Given the description of an element on the screen output the (x, y) to click on. 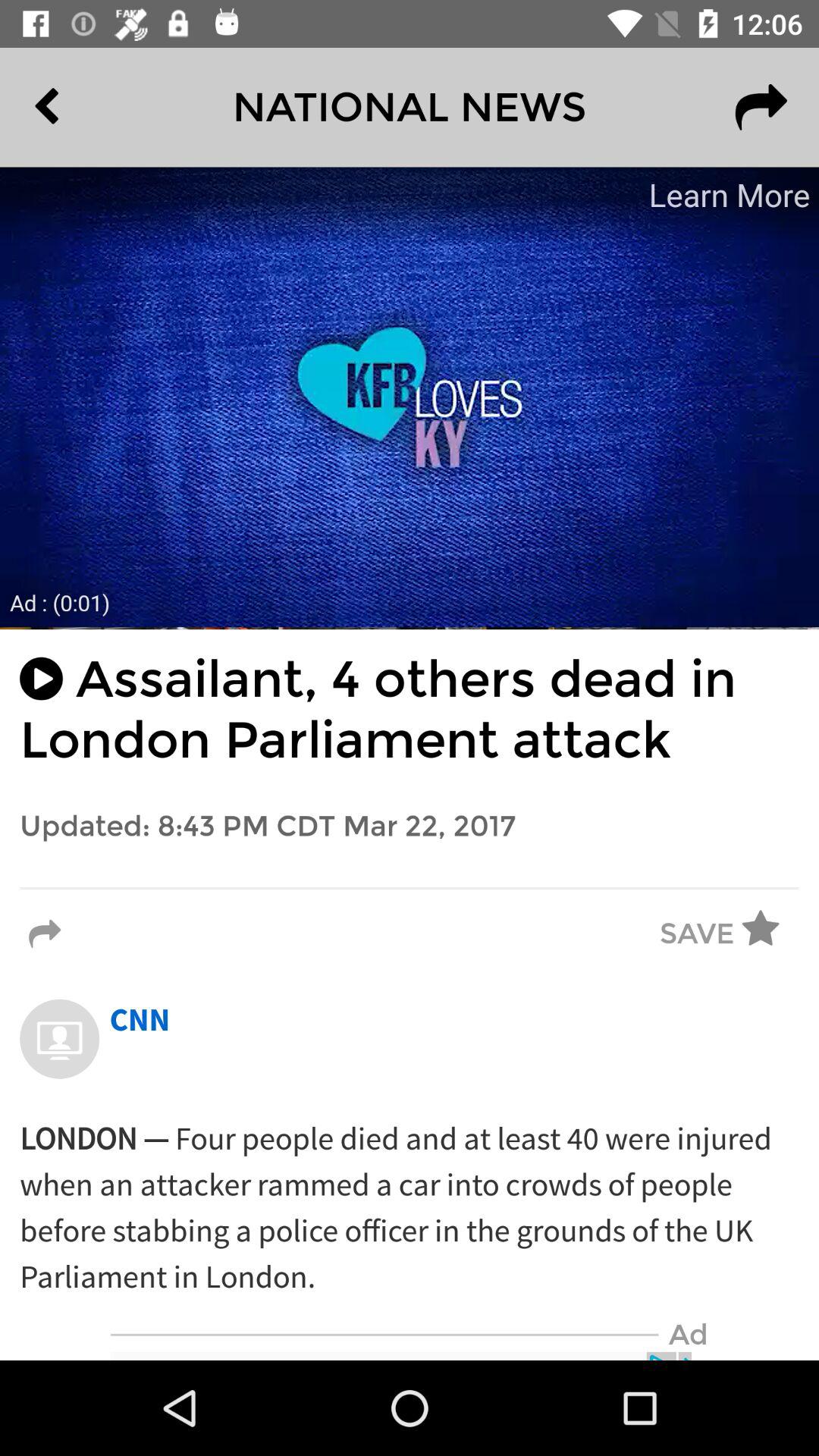
click for more information (409, 397)
